Given the description of an element on the screen output the (x, y) to click on. 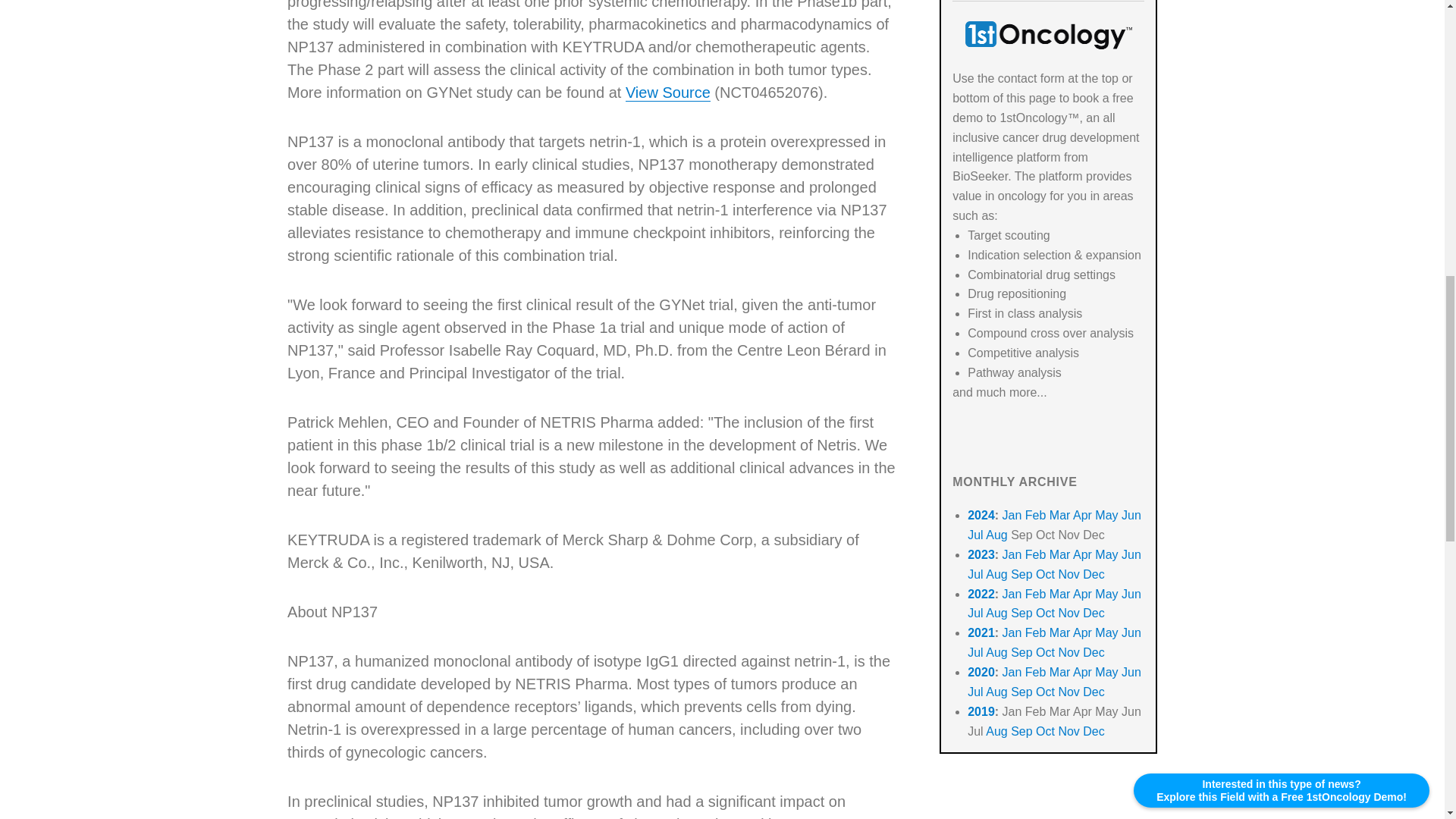
Mar (1059, 554)
May 2024 (1106, 514)
Apr (1082, 514)
February 2024 (1035, 514)
Mar (1059, 514)
Aug (996, 534)
Jul (975, 574)
2023 (981, 554)
Jul (975, 534)
Feb (1035, 554)
